Given the description of an element on the screen output the (x, y) to click on. 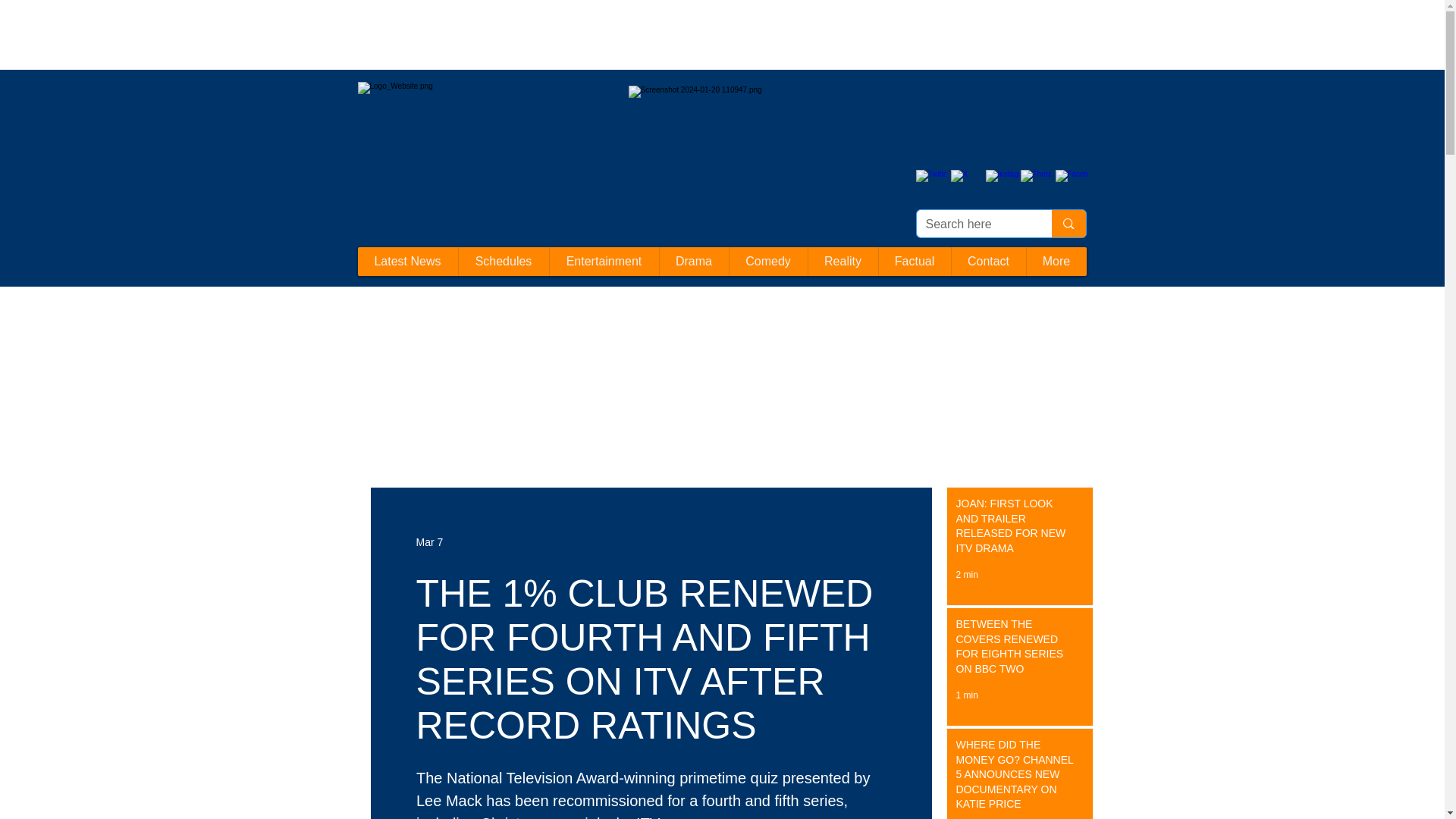
Mar 7 (428, 541)
1 min (965, 695)
Drama (693, 261)
Schedules (503, 261)
Contact (988, 261)
Latest News (408, 261)
Entertainment (603, 261)
Reality (841, 261)
BETWEEN THE COVERS RENEWED FOR EIGHTH SERIES ON BBC TWO (1014, 649)
2 min (965, 574)
